Given the description of an element on the screen output the (x, y) to click on. 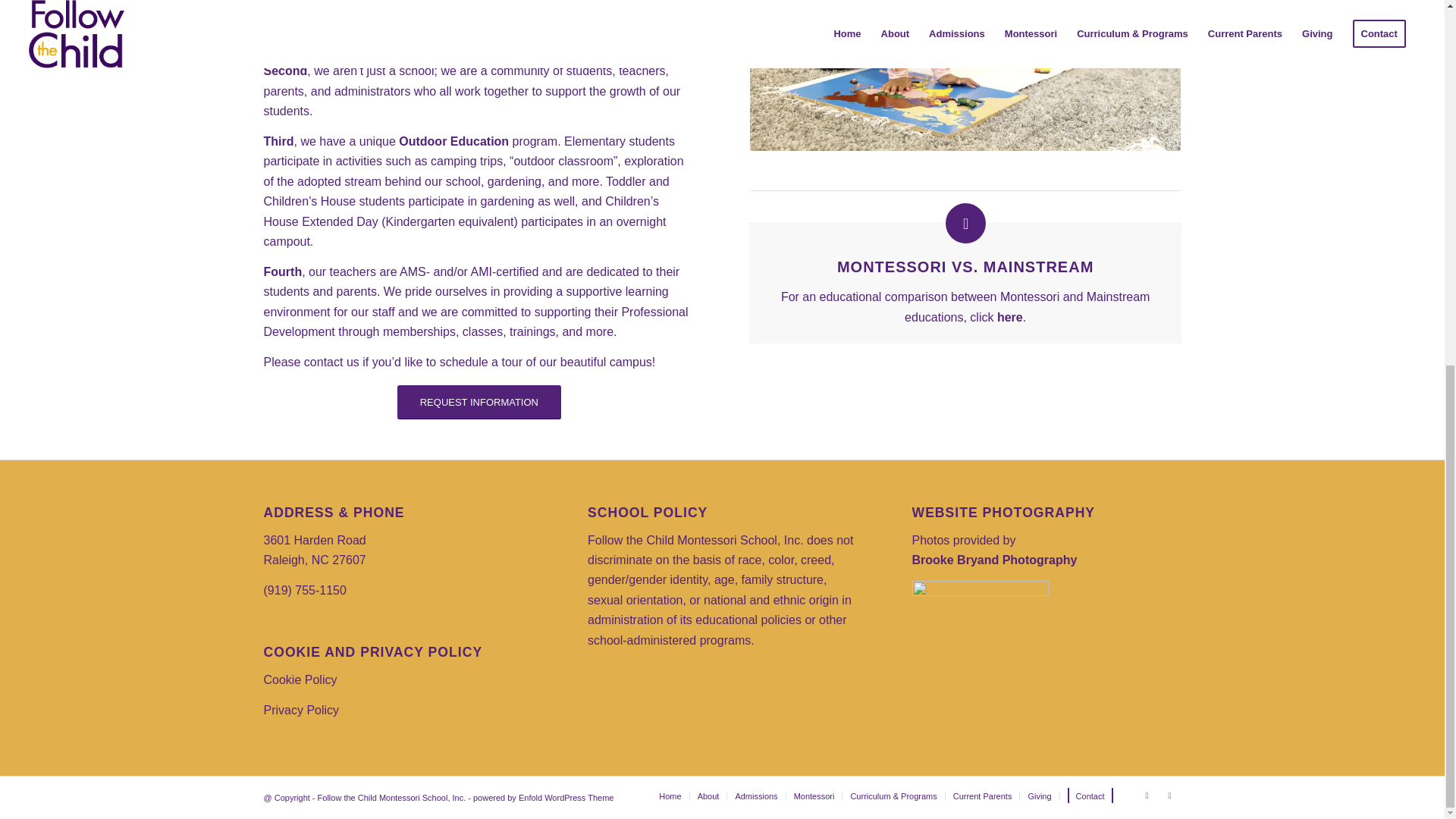
Facebook (1169, 794)
Cookie Policy (300, 679)
Privacy Policy (301, 709)
MONTESSORI VS. MAINSTREAM (965, 266)
Montessori vs. Mainstream (965, 266)
Twitter (1146, 794)
REQUEST INFORMATION (478, 401)
Brooke Bryand Photography (994, 559)
here (1010, 317)
